Given the description of an element on the screen output the (x, y) to click on. 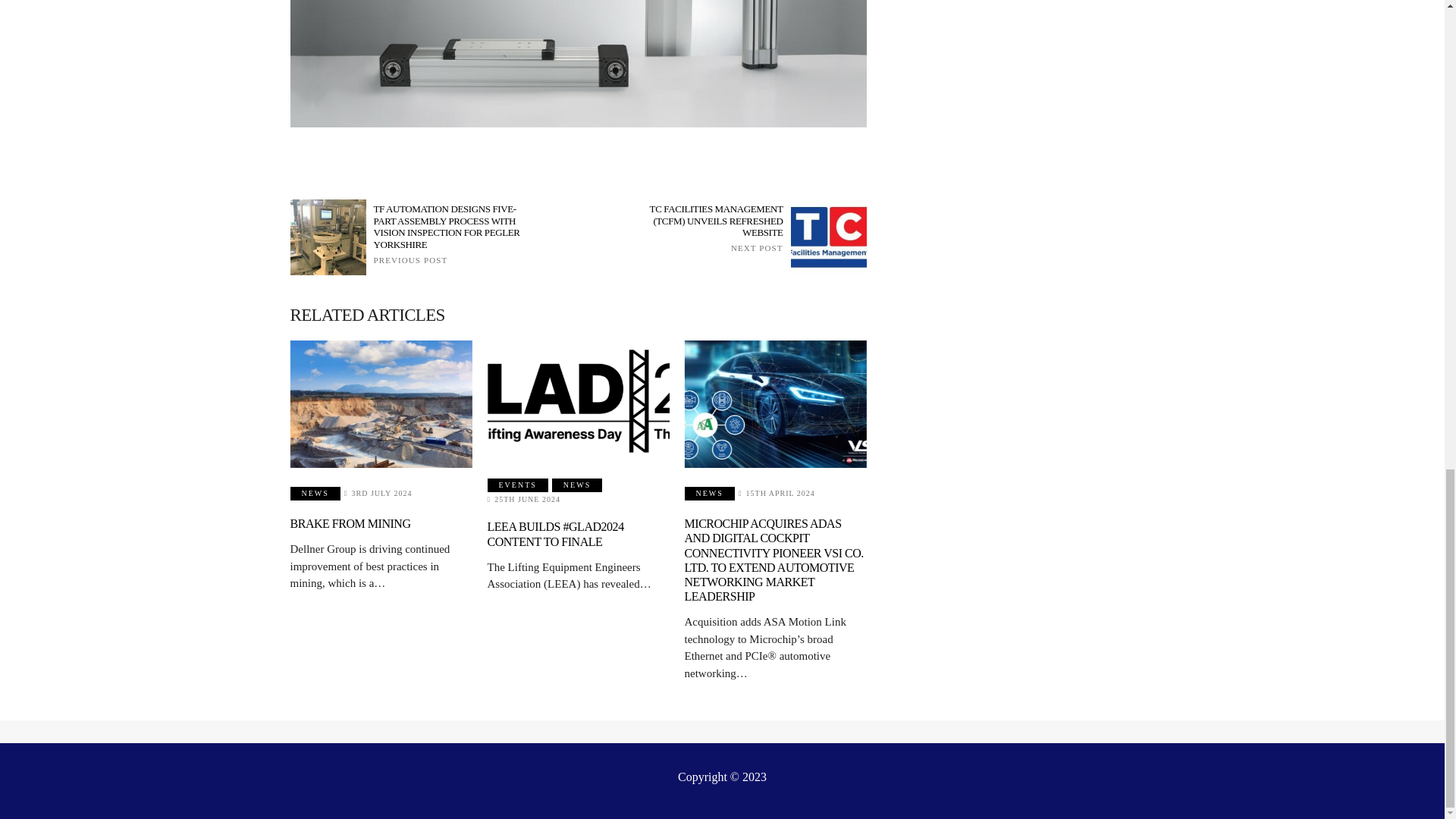
NEWS (314, 493)
Brake from Mining (380, 403)
